Given the description of an element on the screen output the (x, y) to click on. 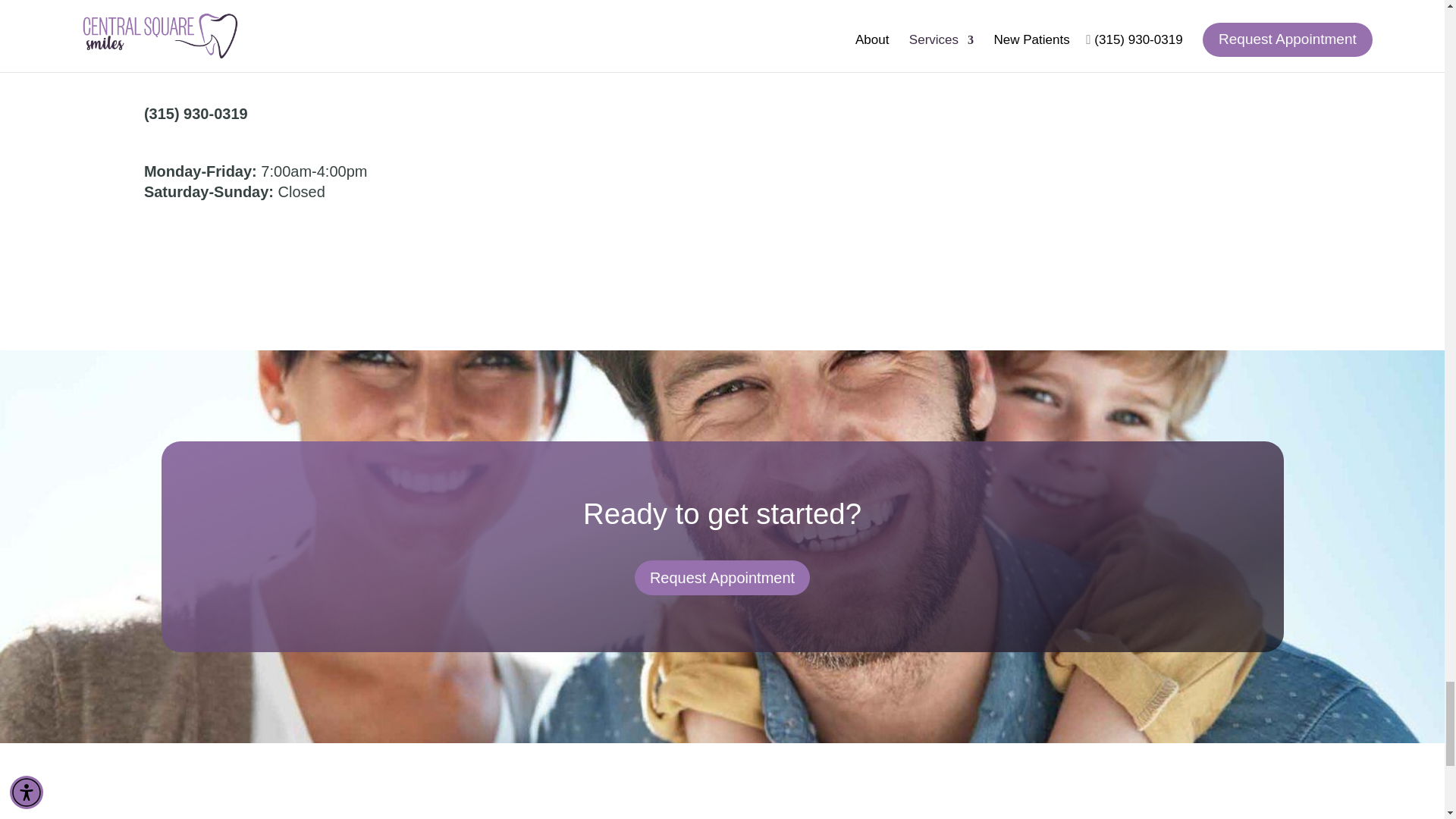
Asset 10a (983, 113)
Get Directions (175, 52)
